Given the description of an element on the screen output the (x, y) to click on. 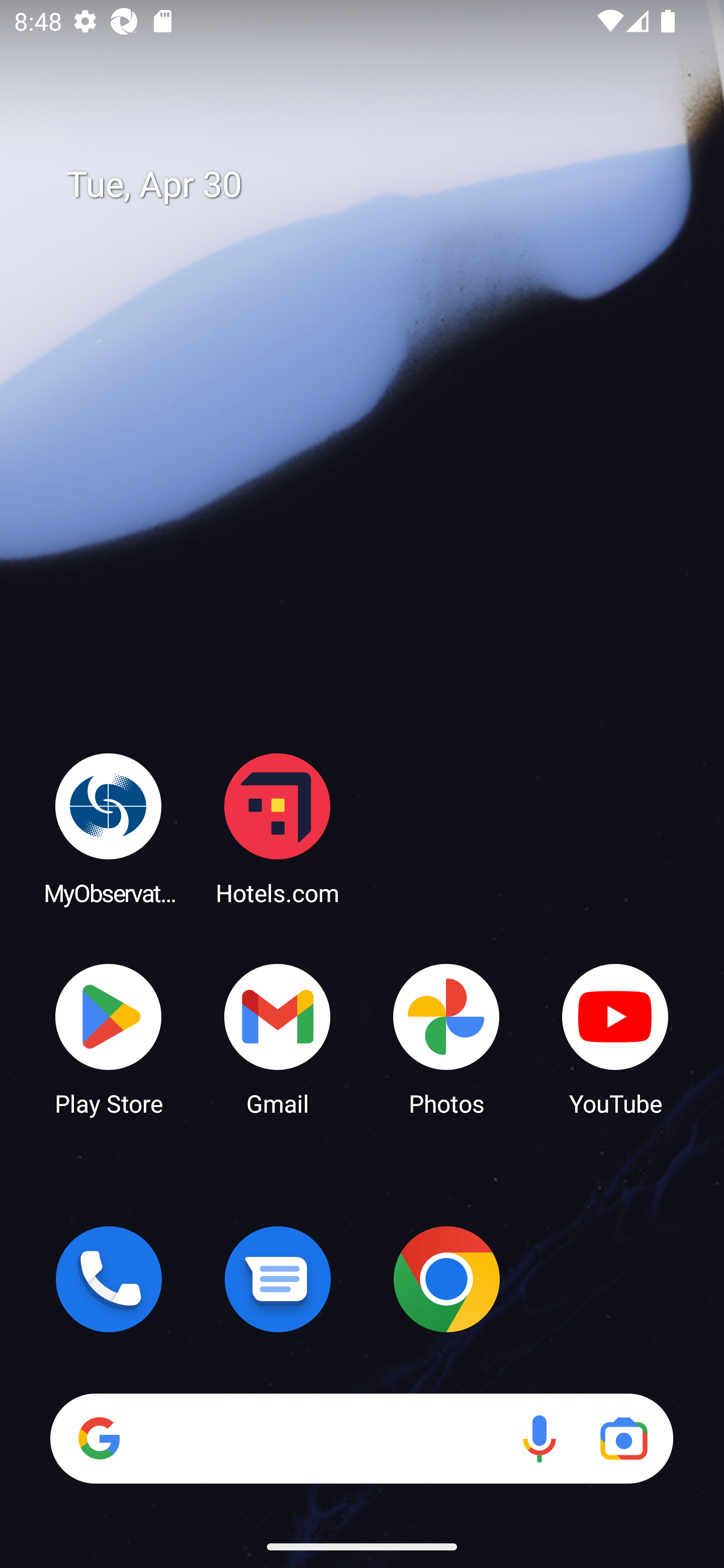
Tue, Apr 30 (375, 184)
MyObservatory (108, 828)
Hotels.com (277, 828)
Play Store (108, 1038)
Gmail (277, 1038)
Photos (445, 1038)
YouTube (615, 1038)
Phone (108, 1279)
Messages (277, 1279)
Chrome (446, 1279)
Voice search (539, 1438)
Google Lens (623, 1438)
